Given the description of an element on the screen output the (x, y) to click on. 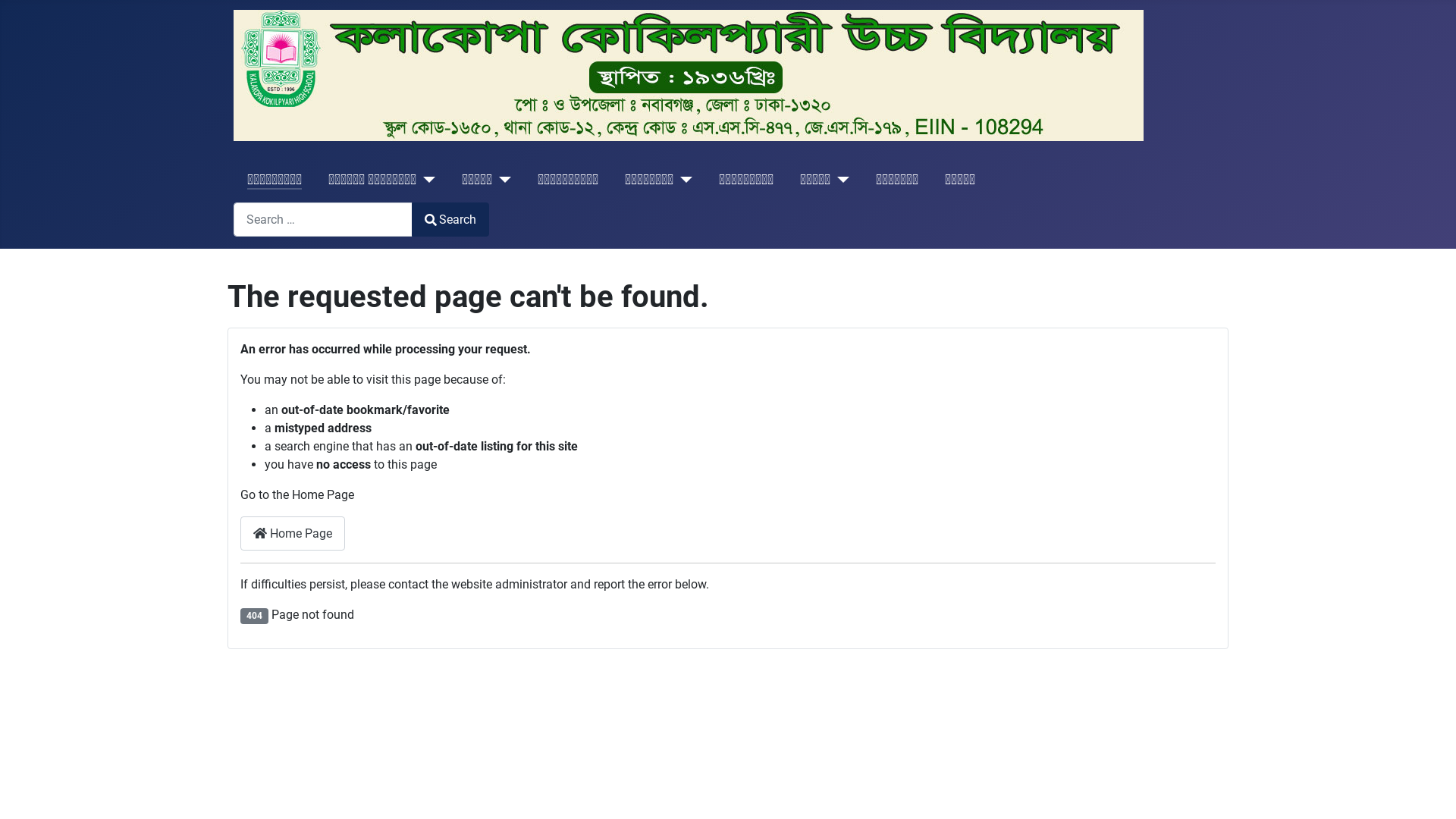
Search Element type: text (450, 219)
Home Page Element type: text (292, 533)
